Given the description of an element on the screen output the (x, y) to click on. 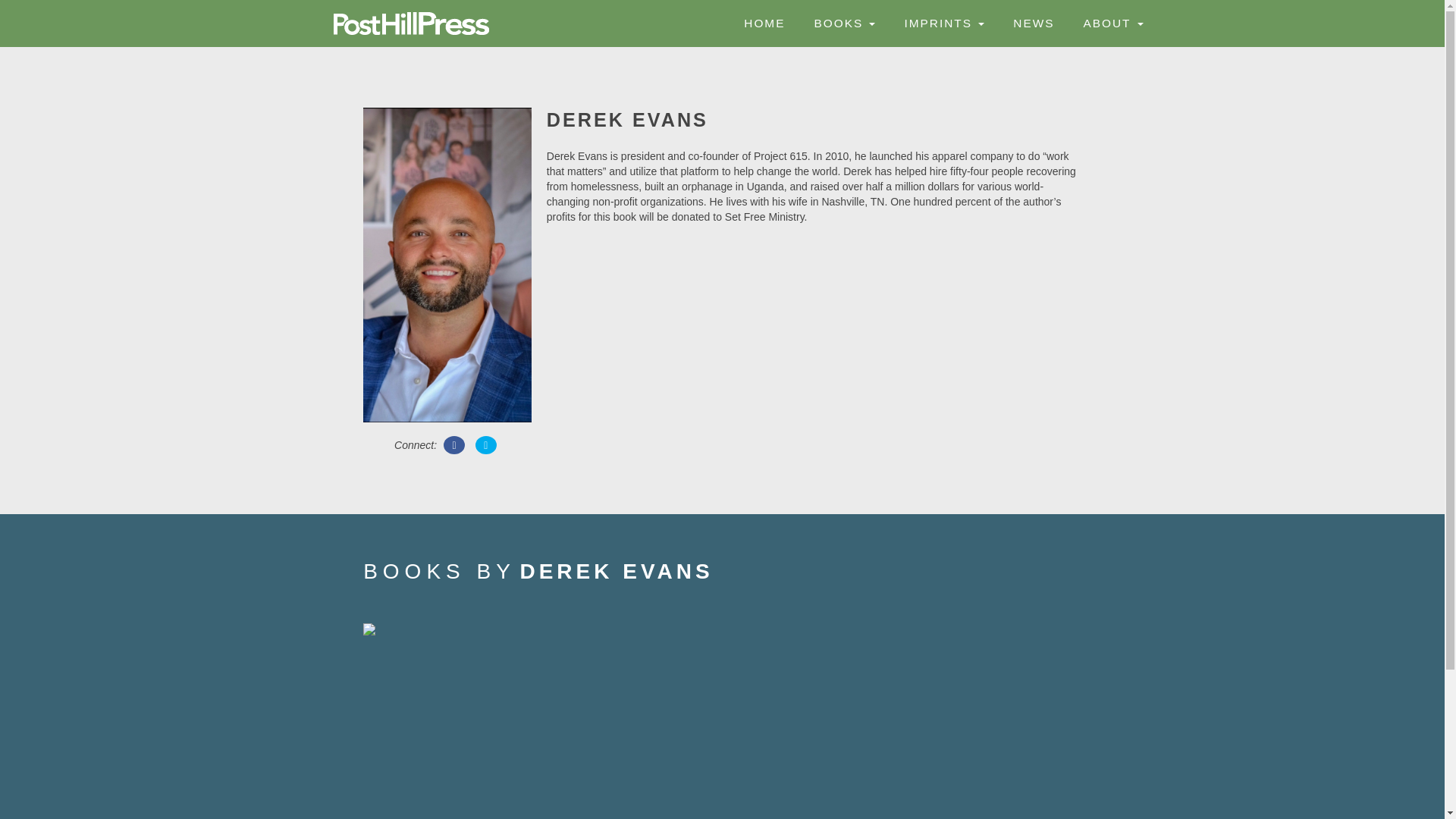
HOME (761, 22)
Books (841, 22)
BOOKS (841, 22)
IMPRINTS (940, 22)
Home (761, 22)
